Given the description of an element on the screen output the (x, y) to click on. 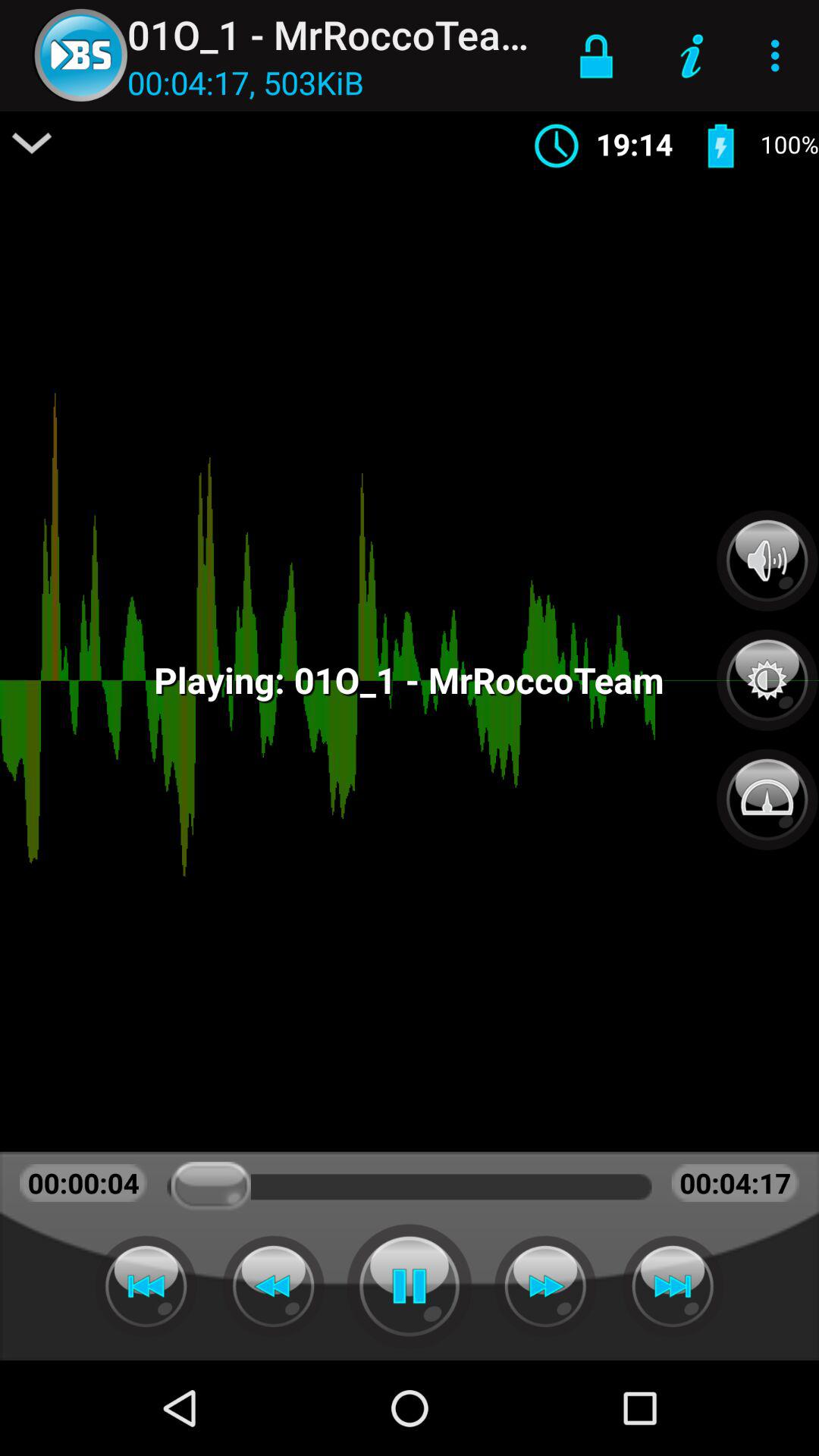
display other options (31, 143)
